Given the description of an element on the screen output the (x, y) to click on. 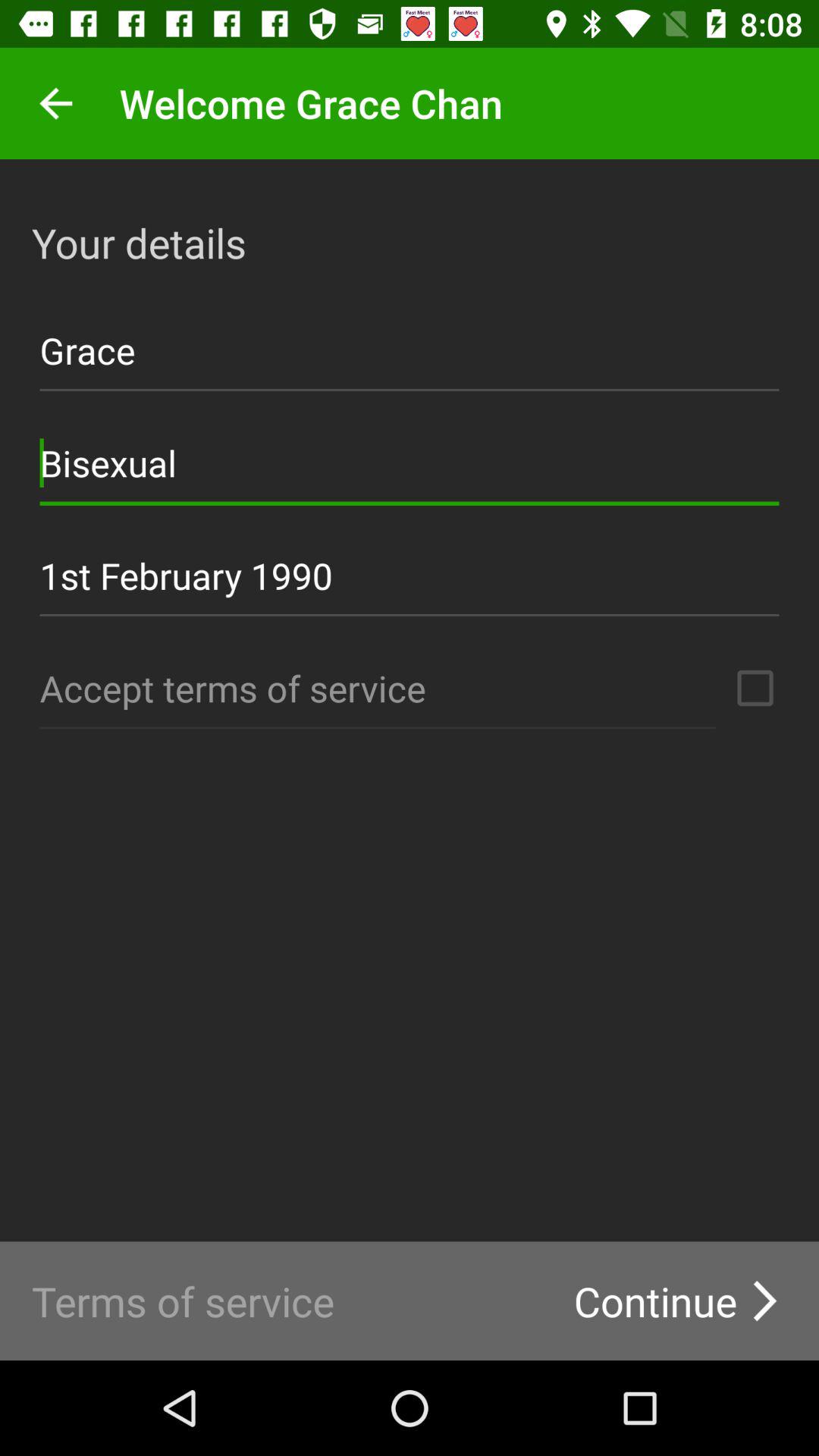
agree to service terms (755, 688)
